Given the description of an element on the screen output the (x, y) to click on. 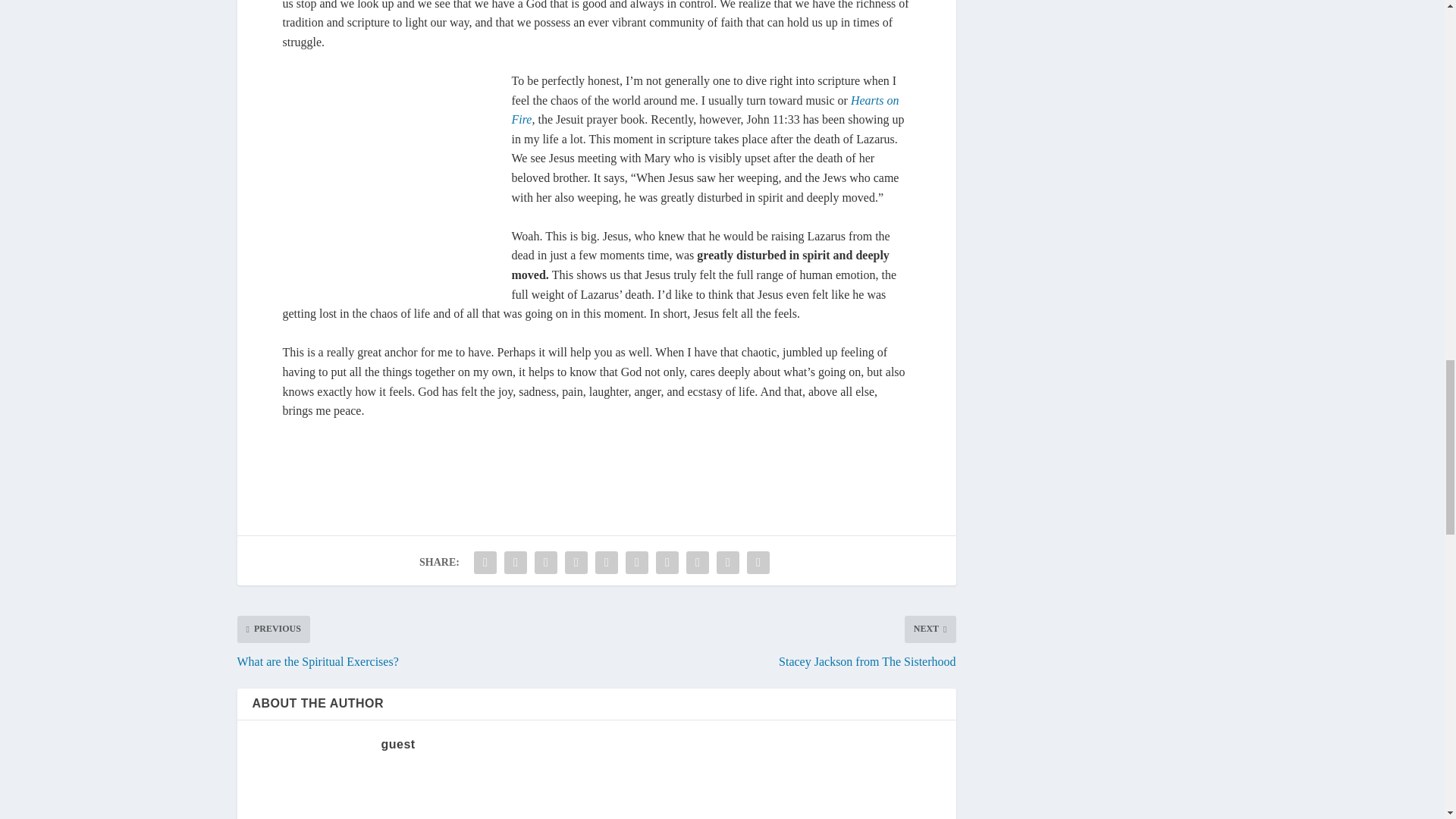
Share "Some Assembly Required" via Email (727, 682)
Share "Some Assembly Required" via Print (757, 682)
Share "Some Assembly Required" via LinkedIn (636, 682)
Share "Some Assembly Required" via Facebook (485, 682)
Share "Some Assembly Required" via Pinterest (606, 682)
Share "Some Assembly Required" via Buffer (667, 682)
Share "Some Assembly Required" via Stumbleupon (697, 682)
Share "Some Assembly Required" via Tumblr (575, 682)
Share "Some Assembly Required" via Twitter (515, 682)
